Given the description of an element on the screen output the (x, y) to click on. 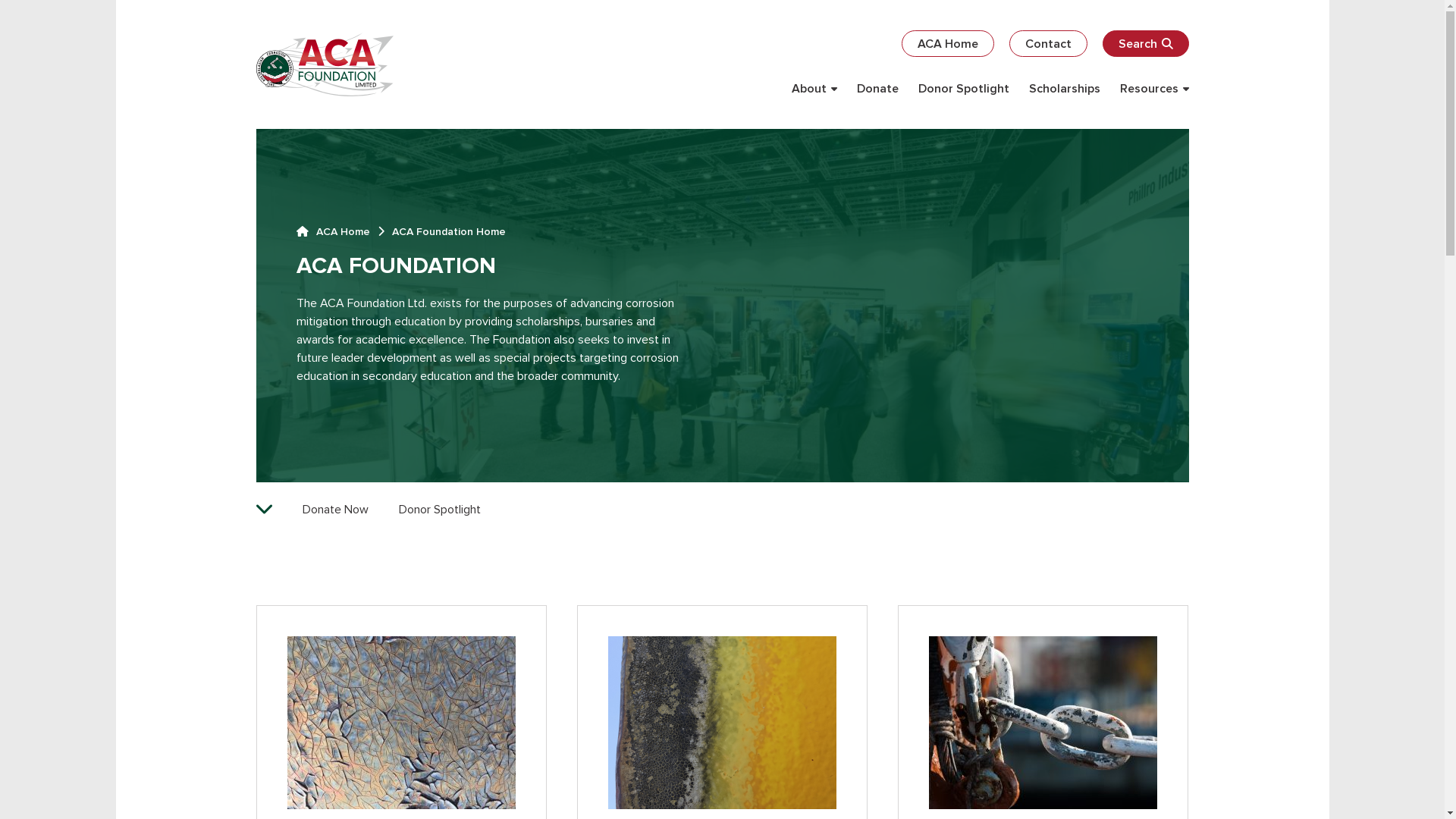
Donate Now Element type: text (334, 509)
Search Element type: text (1145, 43)
ACA Home Element type: text (946, 43)
Donor Spotlight Element type: text (962, 88)
Resources Element type: text (1153, 88)
Contact Element type: text (1047, 43)
ACA Home Element type: text (332, 231)
Donate Element type: text (877, 88)
Scholarships Element type: text (1063, 88)
About Element type: text (814, 88)
Donor Spotlight Element type: text (439, 509)
